Given the description of an element on the screen output the (x, y) to click on. 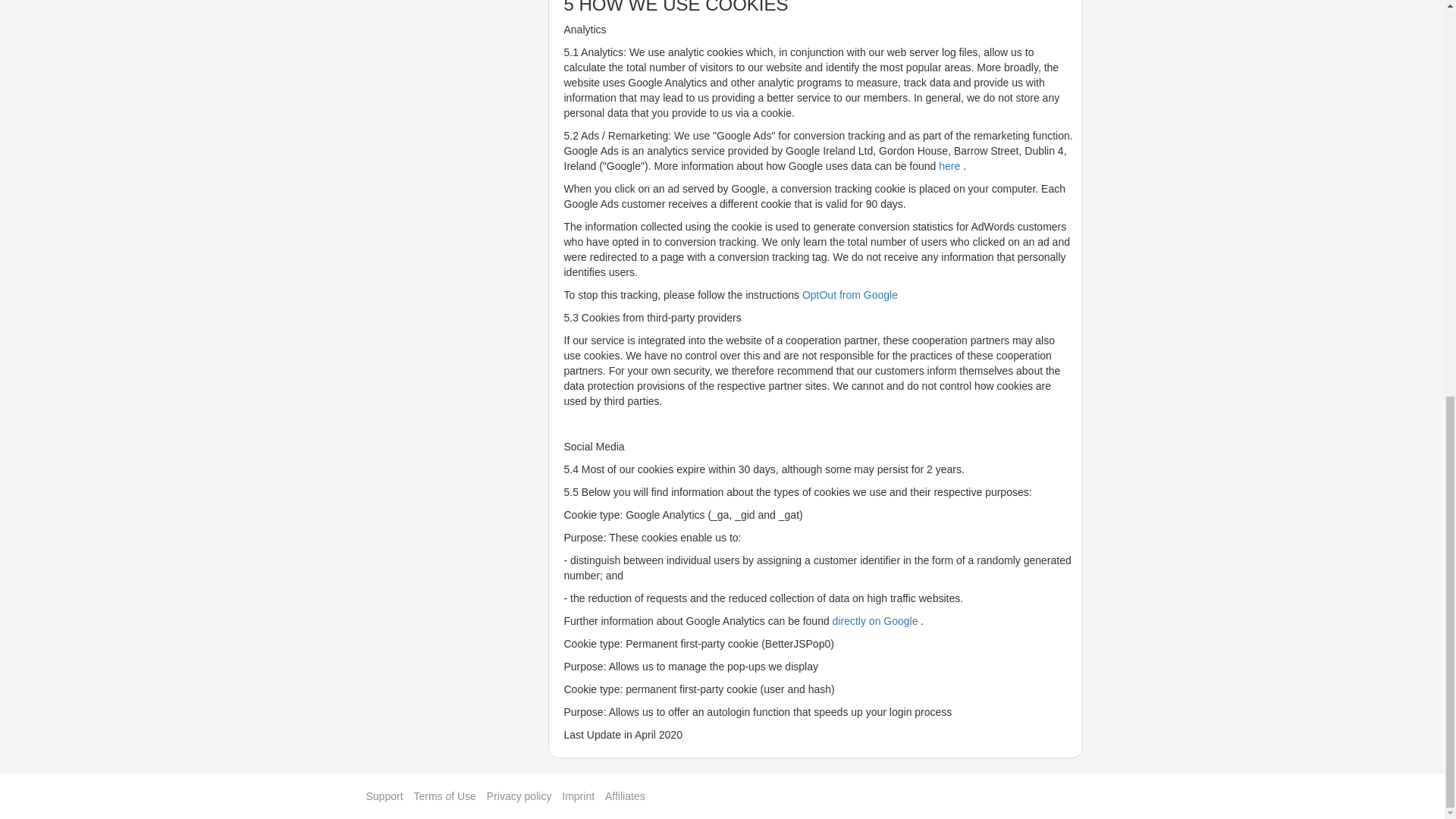
here (950, 165)
OptOut from Google (850, 295)
Affiliates (625, 796)
Imprint (578, 796)
Support (384, 796)
Terms of Use (444, 796)
directly on Google (876, 621)
Privacy policy (518, 796)
